Given the description of an element on the screen output the (x, y) to click on. 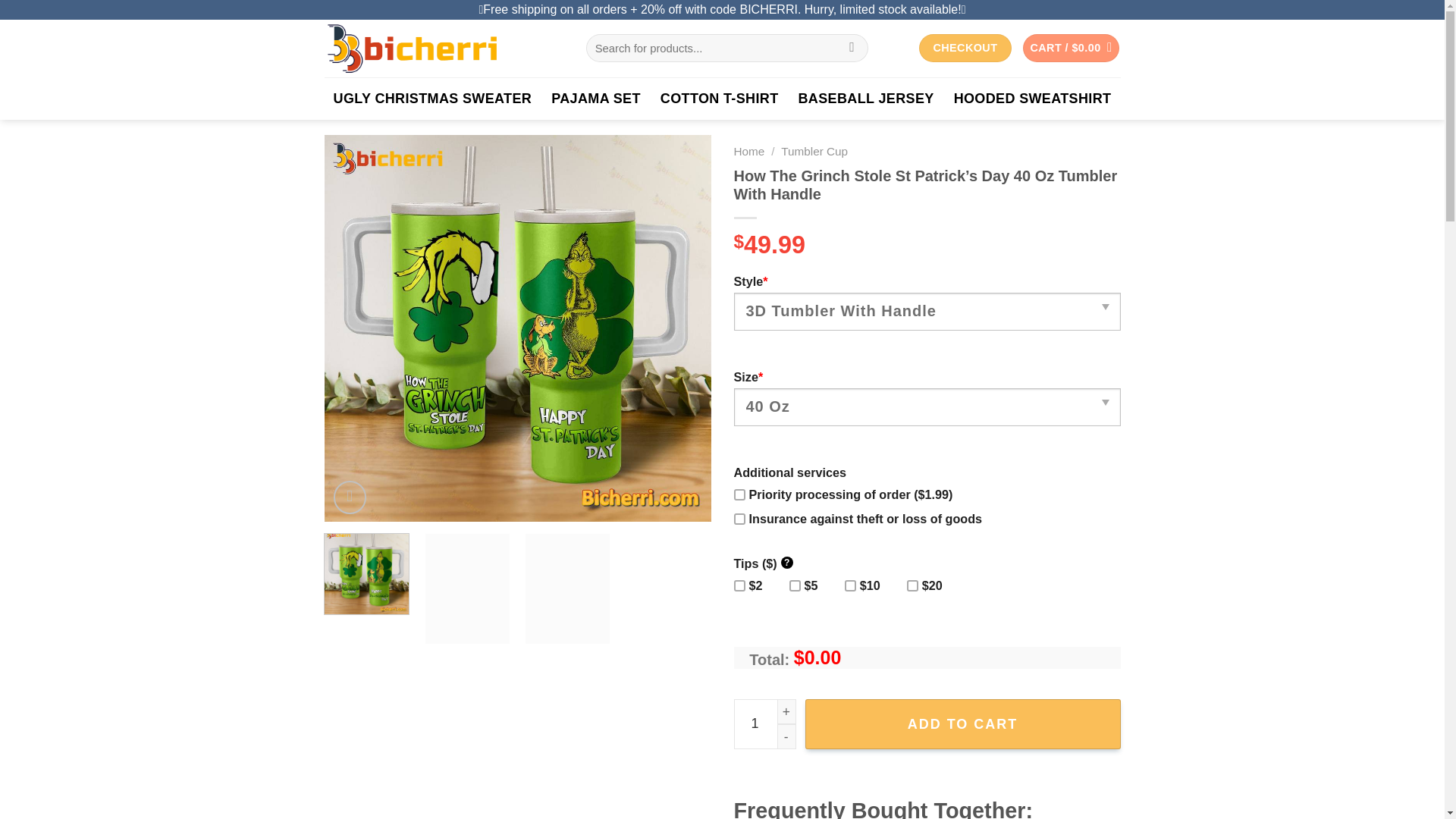
HOODED SWEATSHIRT (1032, 97)
1 (764, 724)
CHECKOUT (964, 48)
UGLY CHRISTMAS SWEATER (432, 97)
ADD TO CART (963, 724)
Home (749, 151)
Search (852, 48)
Tumbler Cup (813, 151)
COTTON T-SHIRT (719, 97)
Cart (1070, 48)
Zoom (349, 497)
Bicherri - Your Destination for Trendy Fashion (443, 47)
BASEBALL JERSEY (865, 97)
